Given the description of an element on the screen output the (x, y) to click on. 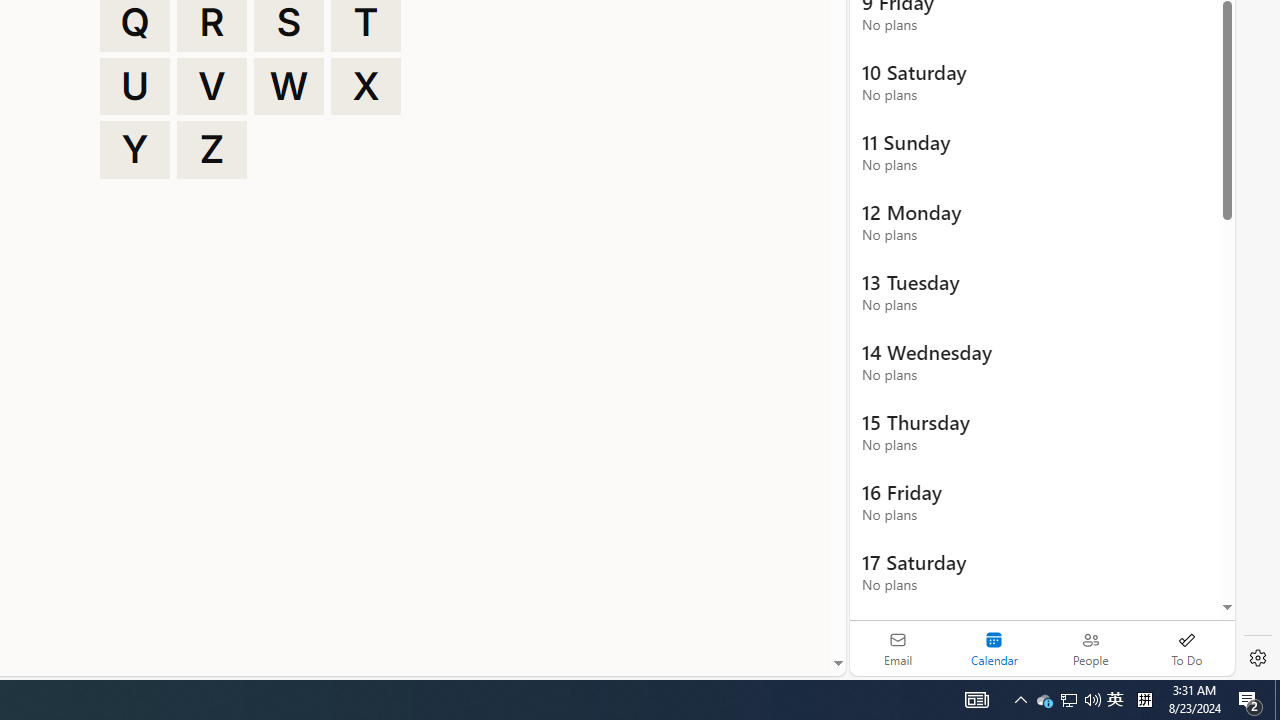
Email (898, 648)
U (134, 85)
Z (212, 149)
Y (134, 149)
W (289, 85)
X (365, 85)
W (289, 85)
